Given the description of an element on the screen output the (x, y) to click on. 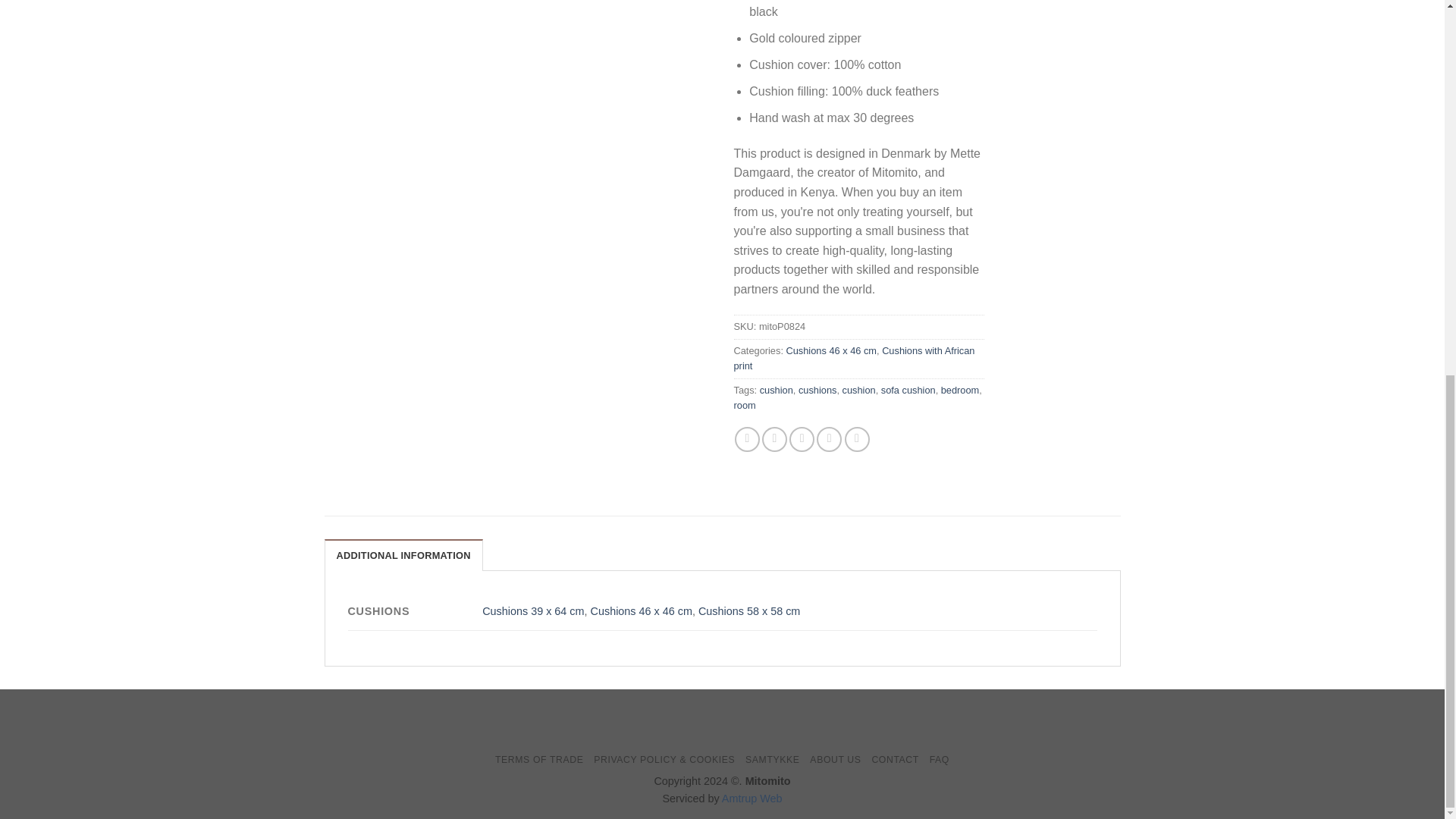
E-mail en ven (801, 439)
Cushions 46 x 46 cm (831, 350)
